Given the description of an element on the screen output the (x, y) to click on. 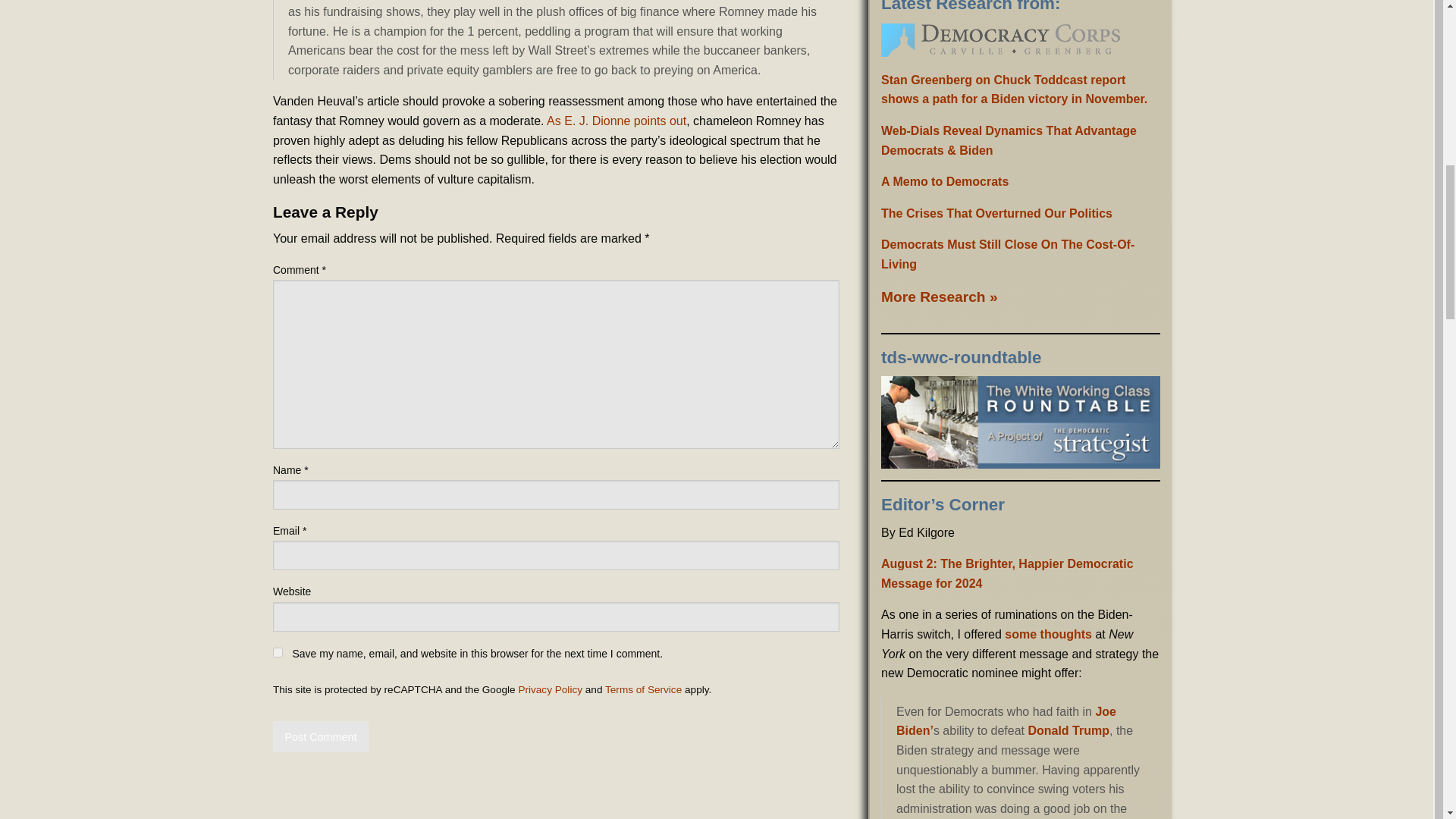
some thoughts (1048, 634)
Post Comment (320, 736)
The Crises That Overturned Our Politics (996, 213)
Privacy Policy (550, 689)
Donald Trump (1068, 730)
Post Comment (320, 736)
Terms of Service (643, 689)
A Memo to Democrats (944, 181)
As E. J. Dionne points out (616, 120)
Democrats Must Still Close On The Cost-Of-Living (1007, 254)
yes (277, 652)
August 2: The Brighter, Happier Democratic Message for 2024 (1007, 573)
